Given the description of an element on the screen output the (x, y) to click on. 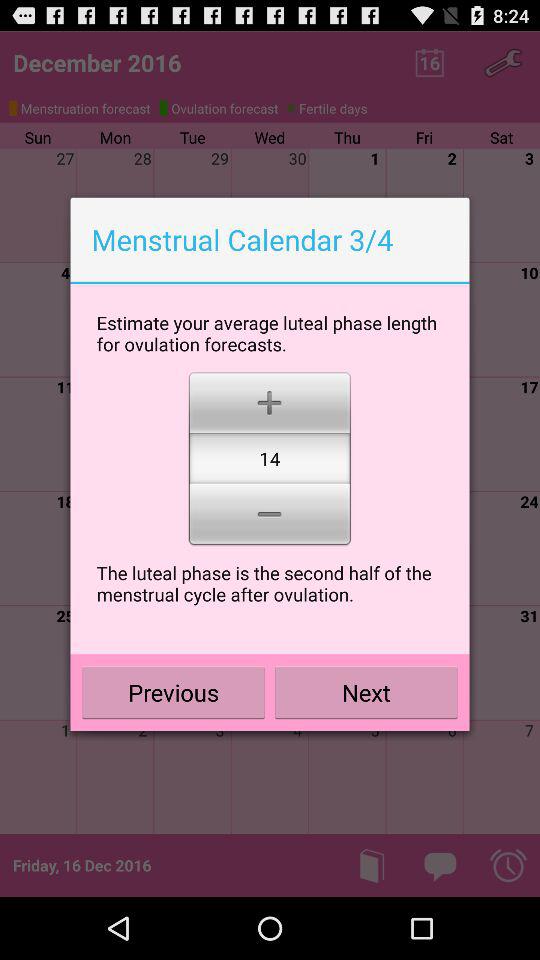
open the item below estimate your average icon (269, 400)
